Given the description of an element on the screen output the (x, y) to click on. 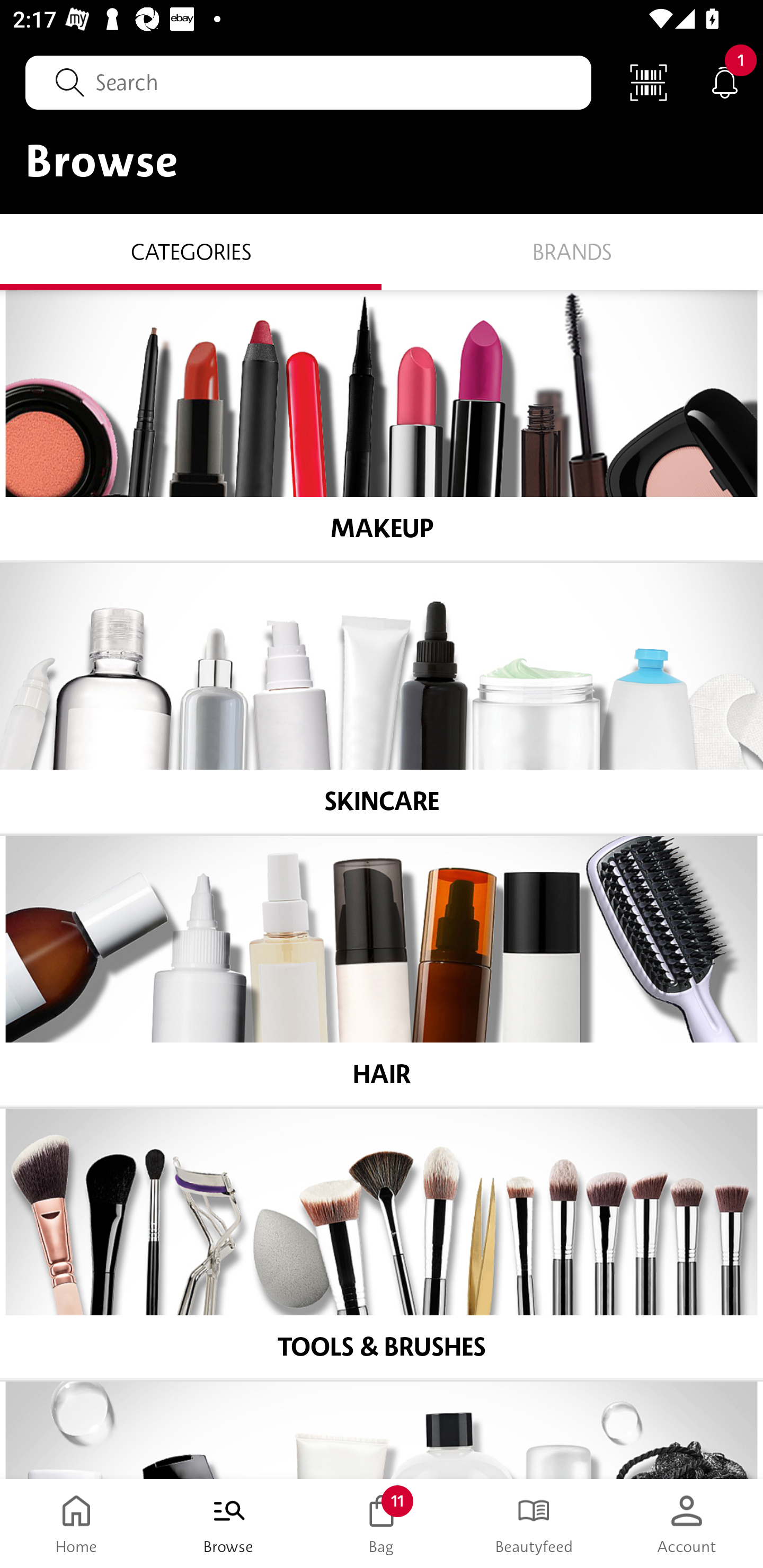
Scan Code (648, 81)
Notifications (724, 81)
Search (308, 81)
Brands BRANDS (572, 251)
MAKEUP (381, 425)
SKINCARE (381, 698)
HAIR (381, 971)
TOOLS & BRUSHES (381, 1243)
Home (76, 1523)
Bag 11 Bag (381, 1523)
Beautyfeed (533, 1523)
Account (686, 1523)
